Given the description of an element on the screen output the (x, y) to click on. 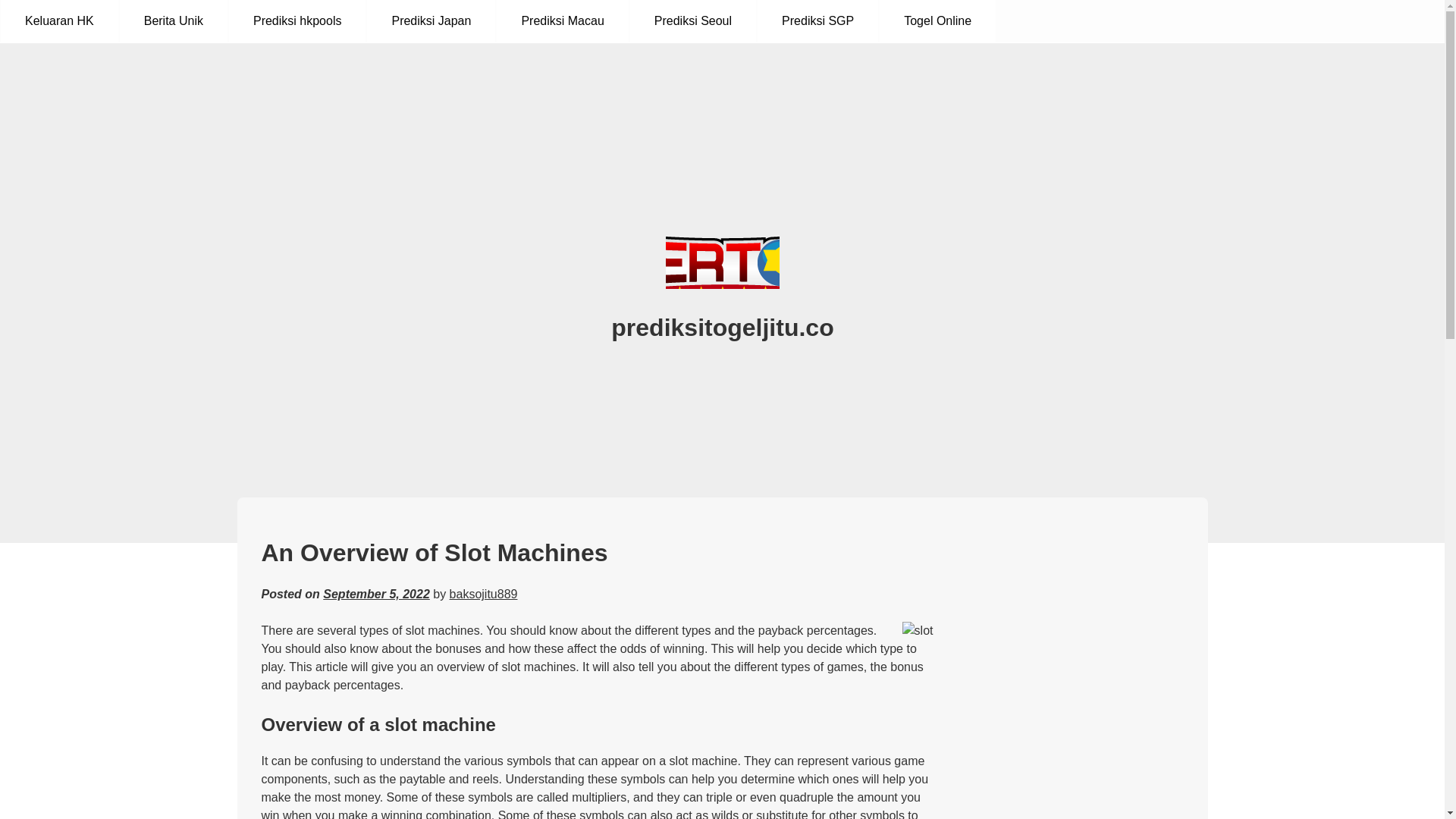
Prediksi Seoul (692, 21)
Prediksi Macau (561, 21)
Togel Online (937, 21)
September 5, 2022 (376, 594)
baksojitu889 (483, 594)
Keluaran HK (59, 21)
Berita Unik (173, 21)
Prediksi SGP (817, 21)
Prediksi hkpools (297, 21)
Prediksi Japan (430, 21)
